Given the description of an element on the screen output the (x, y) to click on. 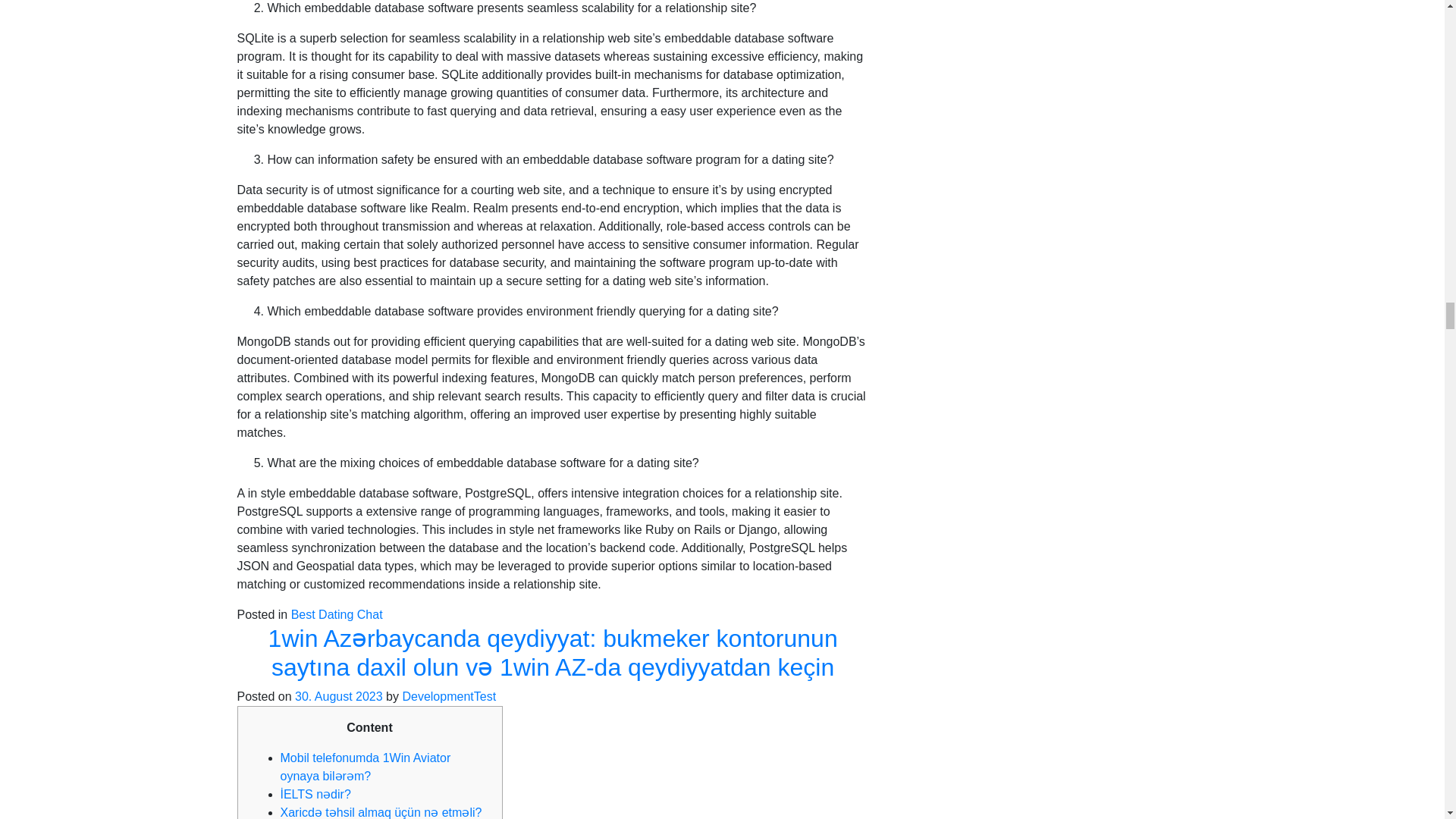
30. August 2023 (338, 696)
DevelopmentTest (448, 696)
Best Dating Chat (336, 614)
